Given the description of an element on the screen output the (x, y) to click on. 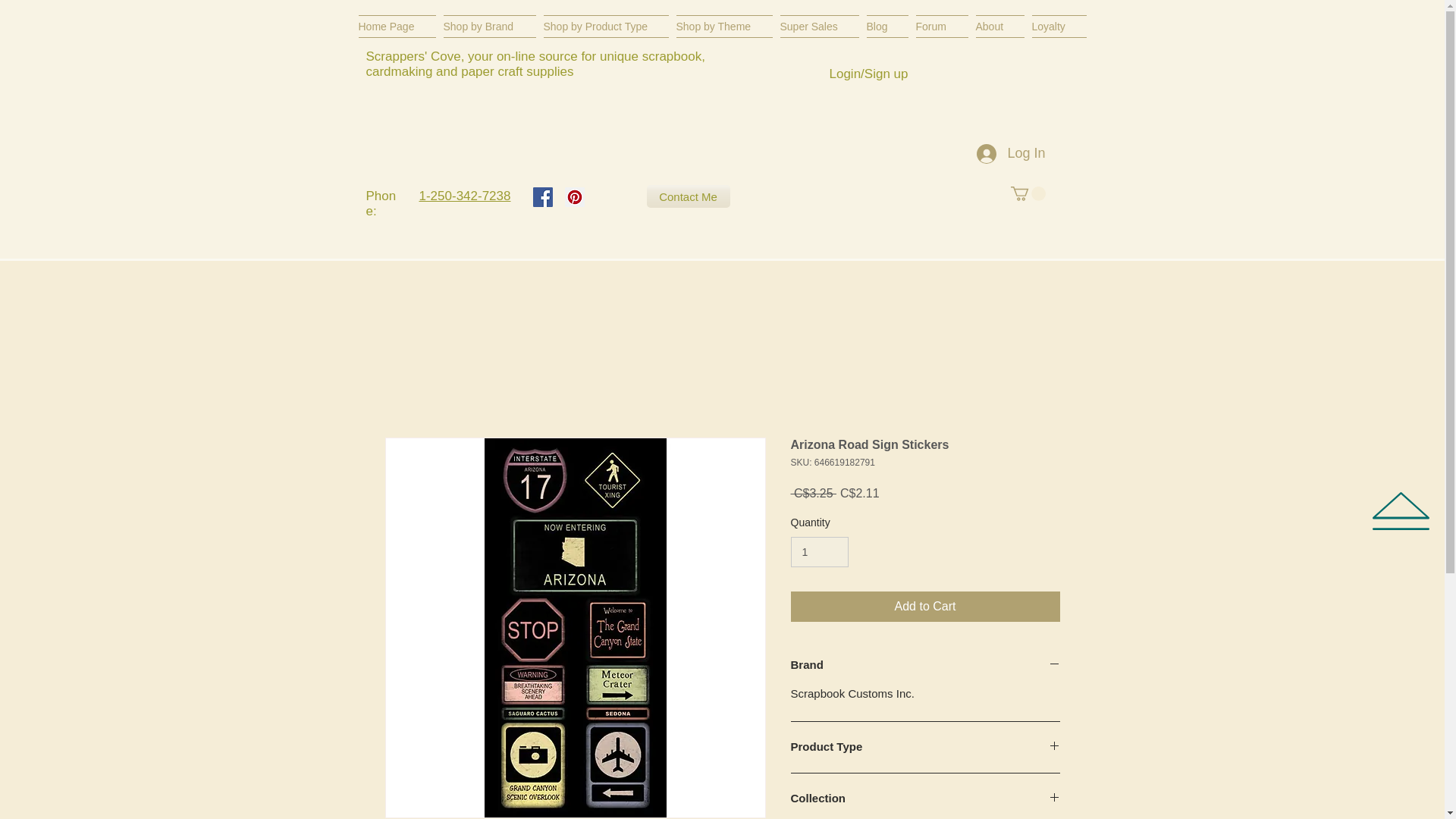
Home Page (398, 26)
1 (818, 552)
Shop by Brand (489, 26)
